Given the description of an element on the screen output the (x, y) to click on. 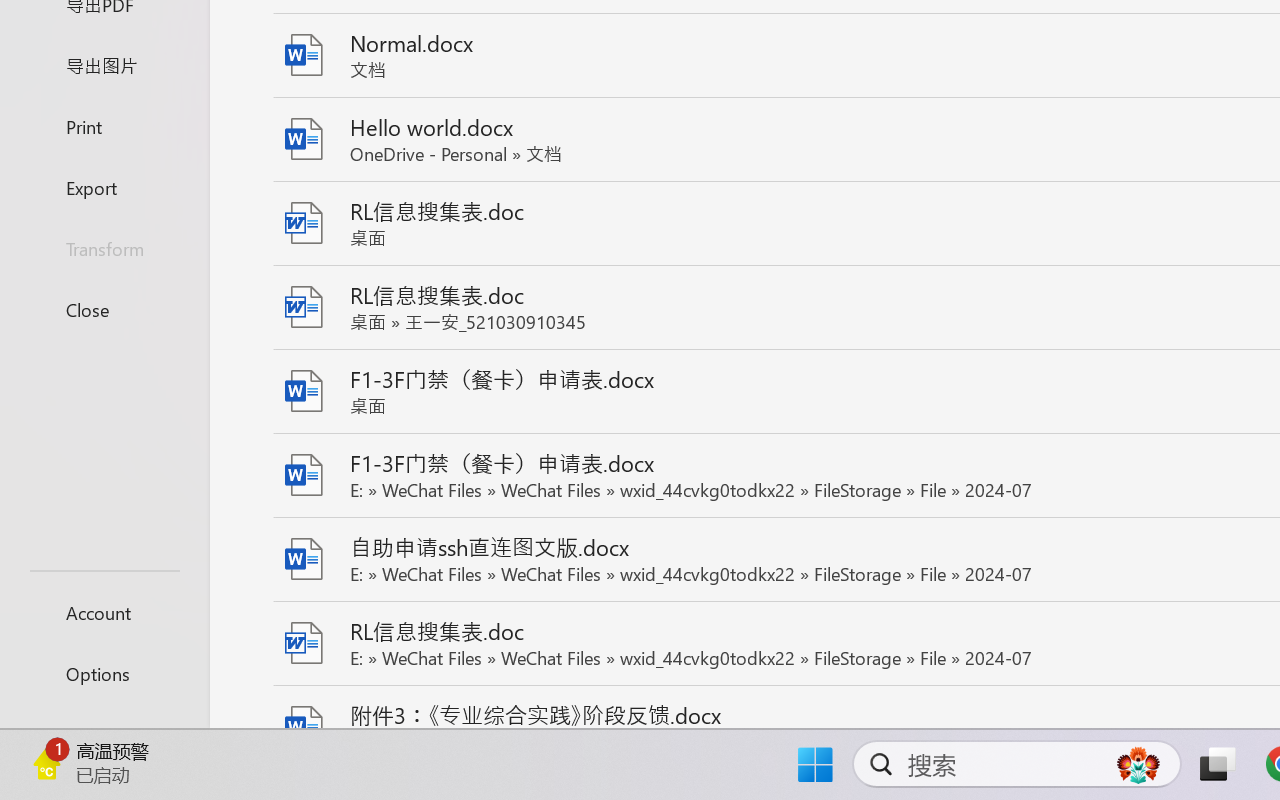
Slide Two Content Layout: used by no slides (204, 164)
Slide Blank Layout: used by no slides (204, 658)
Slide Comparison Layout: used by no slides (204, 329)
Slide Title Only Layout: used by no slides (204, 493)
